Given the description of an element on the screen output the (x, y) to click on. 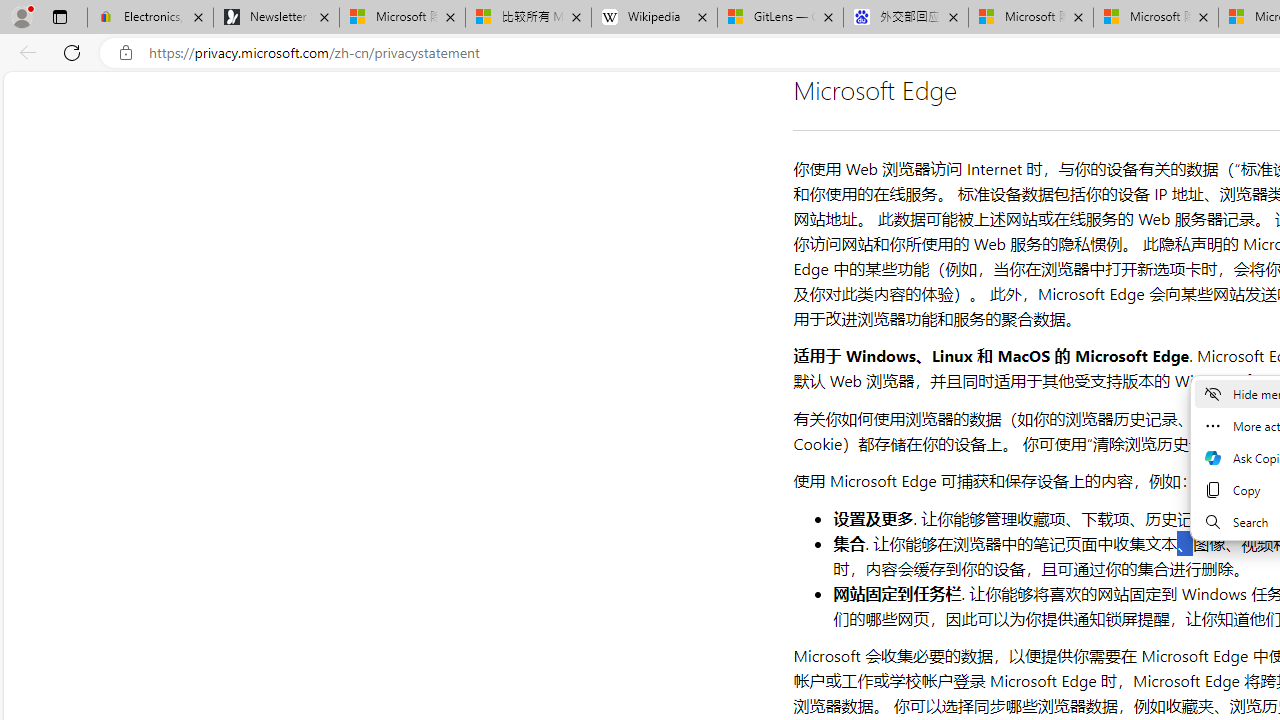
Newsletter Sign Up (276, 17)
